Given the description of an element on the screen output the (x, y) to click on. 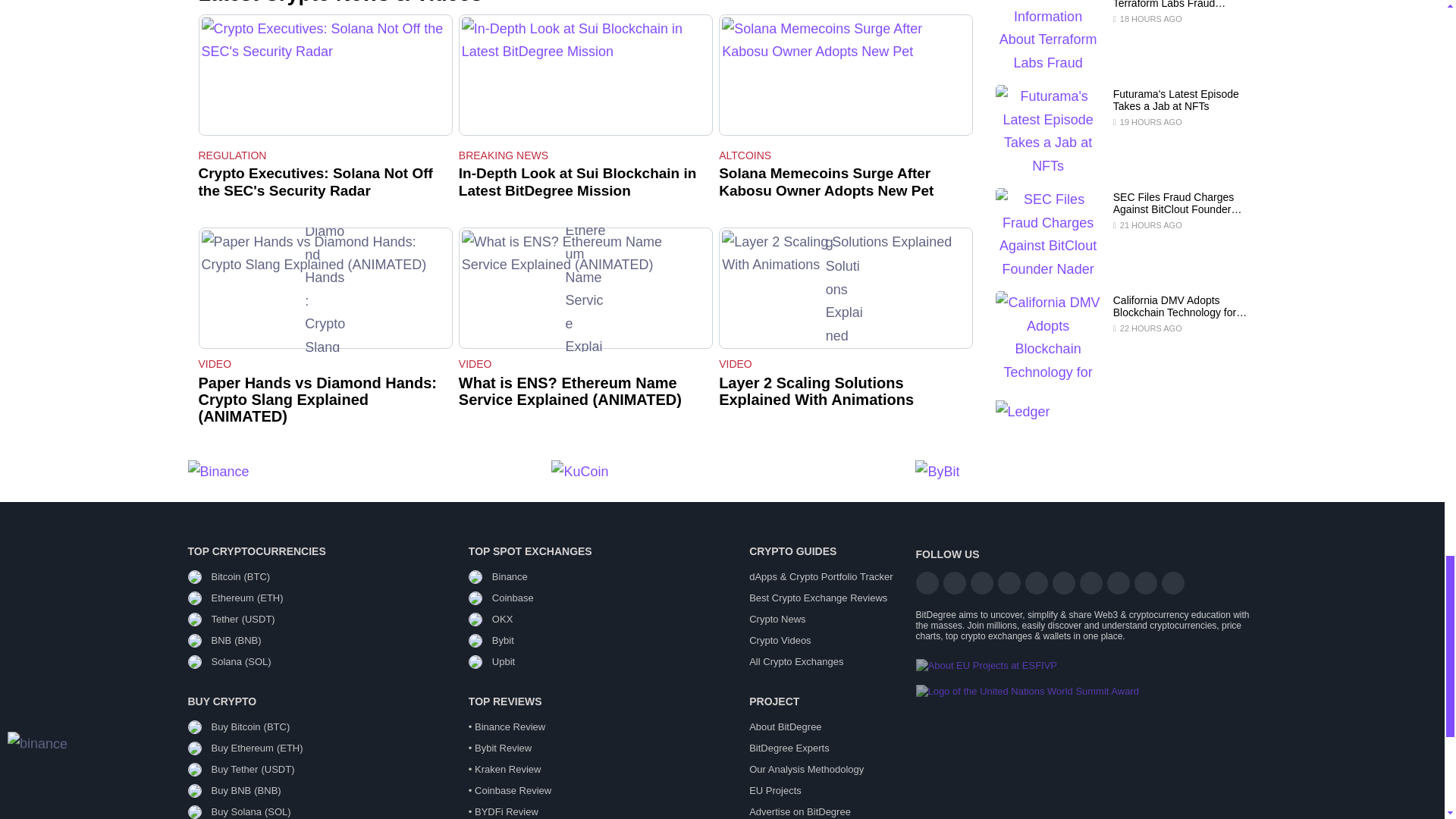
Crypto Executives: Solana Not Off the SEC's Security Radar (325, 74)
In-Depth Look at Sui Blockchain in Latest BitDegree Mission (585, 74)
Solana Memecoins Surge After Kabosu Owner Adopts New Pet (845, 74)
